Given the description of an element on the screen output the (x, y) to click on. 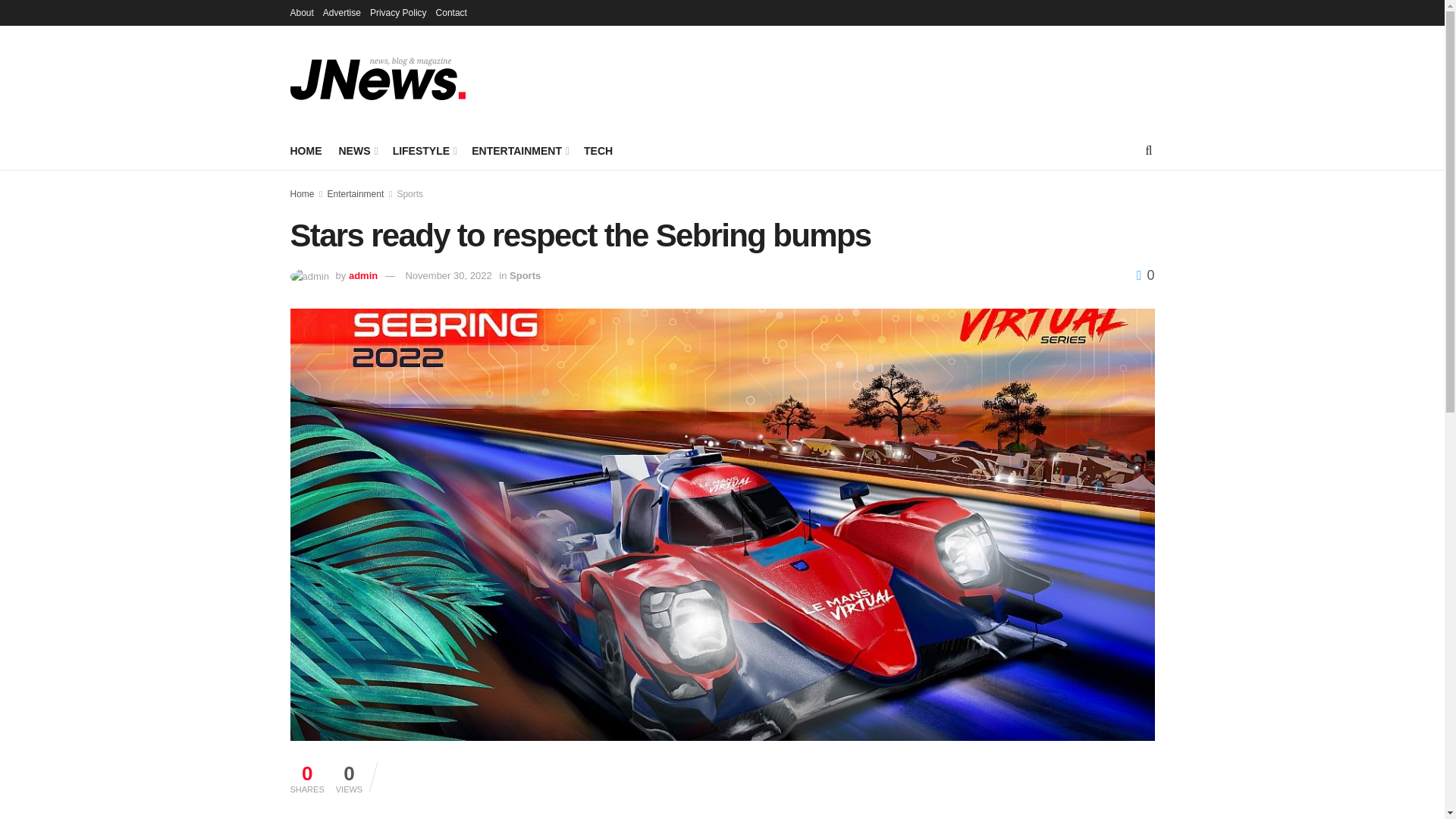
About (301, 12)
HOME (305, 150)
Contact (451, 12)
ENTERTAINMENT (519, 150)
NEWS (356, 150)
Privacy Policy (397, 12)
Advertise (342, 12)
LIFESTYLE (424, 150)
TECH (597, 150)
